Given the description of an element on the screen output the (x, y) to click on. 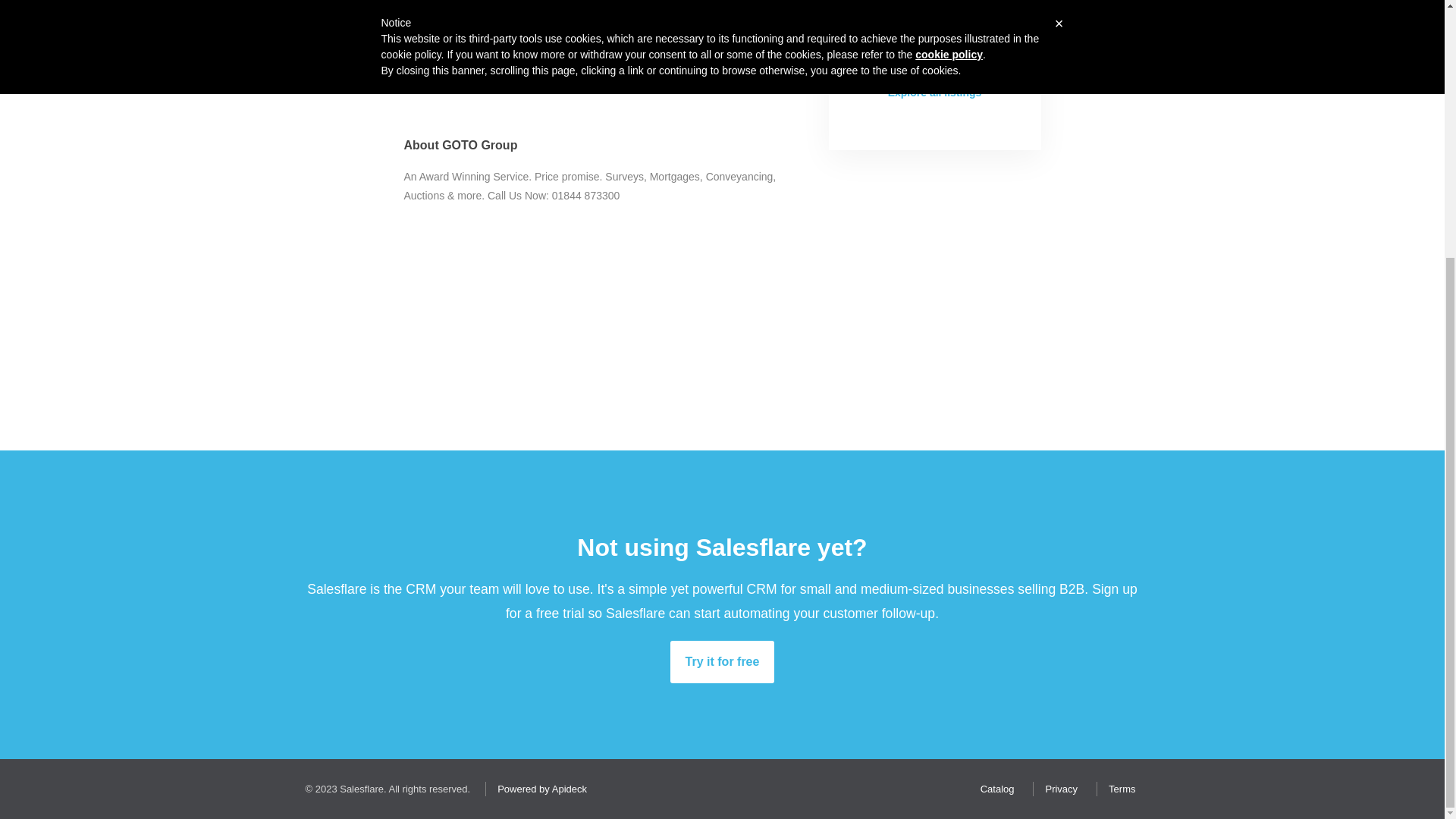
Terms (1117, 789)
Explore all listings (934, 92)
Catalog (993, 789)
Request this listing (934, 37)
Try it for free (721, 661)
Privacy (1057, 789)
Powered by Apideck (538, 789)
